Given the description of an element on the screen output the (x, y) to click on. 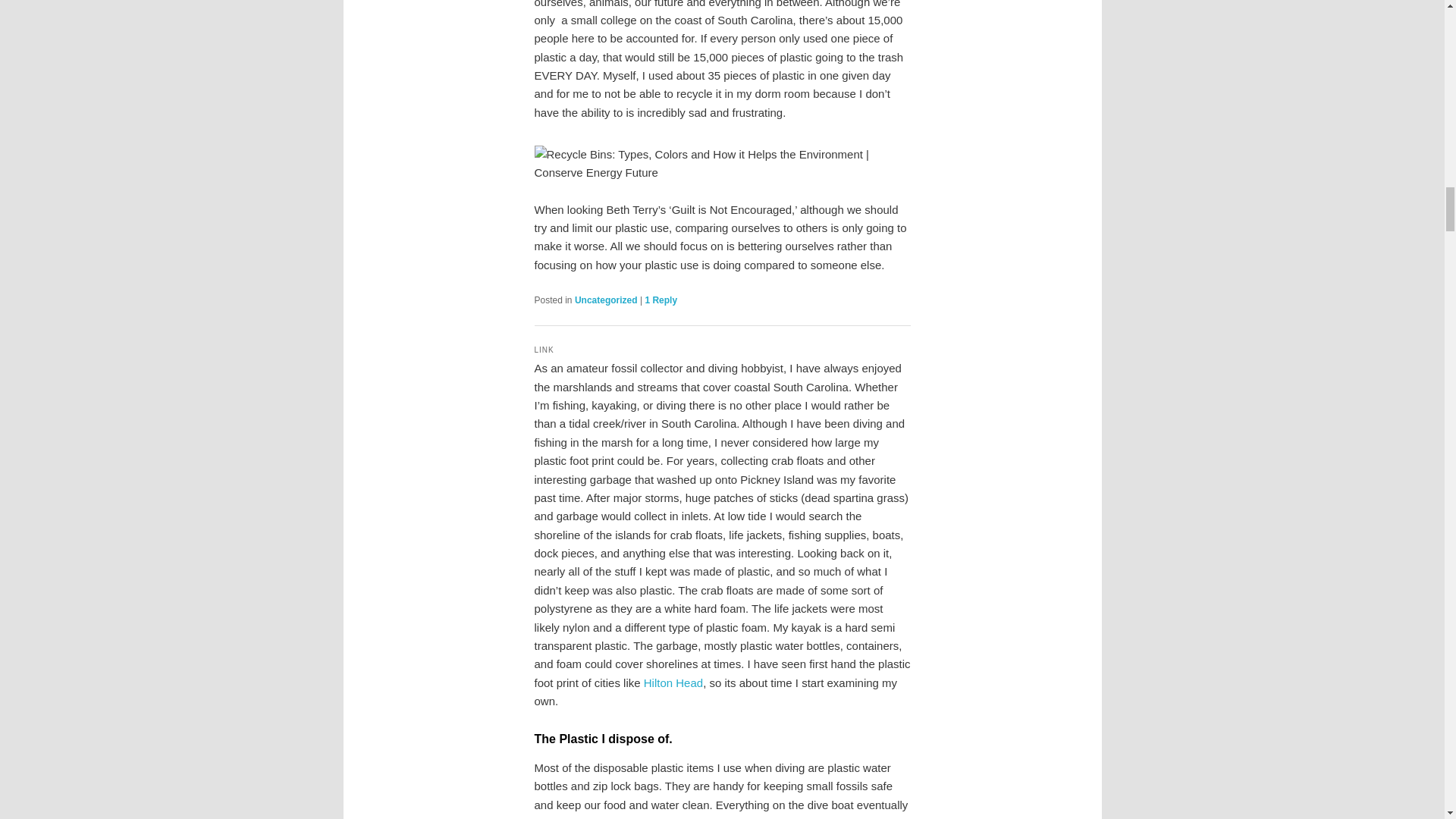
Hilton Head (673, 682)
1 Reply (661, 299)
Uncategorized (606, 299)
